Given the description of an element on the screen output the (x, y) to click on. 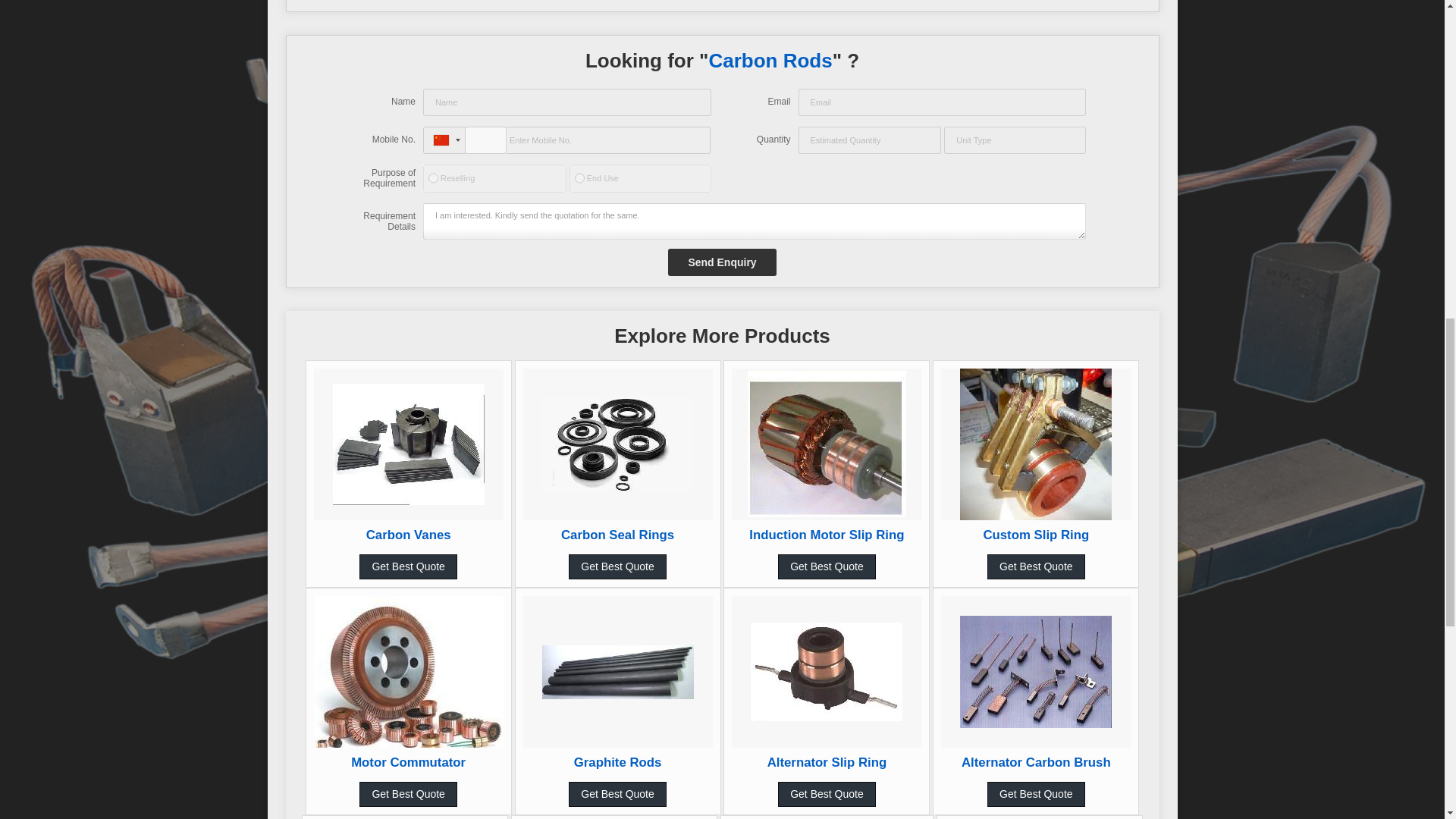
Get Best Quote (408, 566)
Get Best Quote (826, 566)
Carbon Vanes (408, 534)
Carbon Seal Rings (617, 534)
Send Enquiry (722, 262)
Get Best Quote (617, 566)
Induction Motor Slip Ring (826, 534)
Send Enquiry (722, 262)
